Given the description of an element on the screen output the (x, y) to click on. 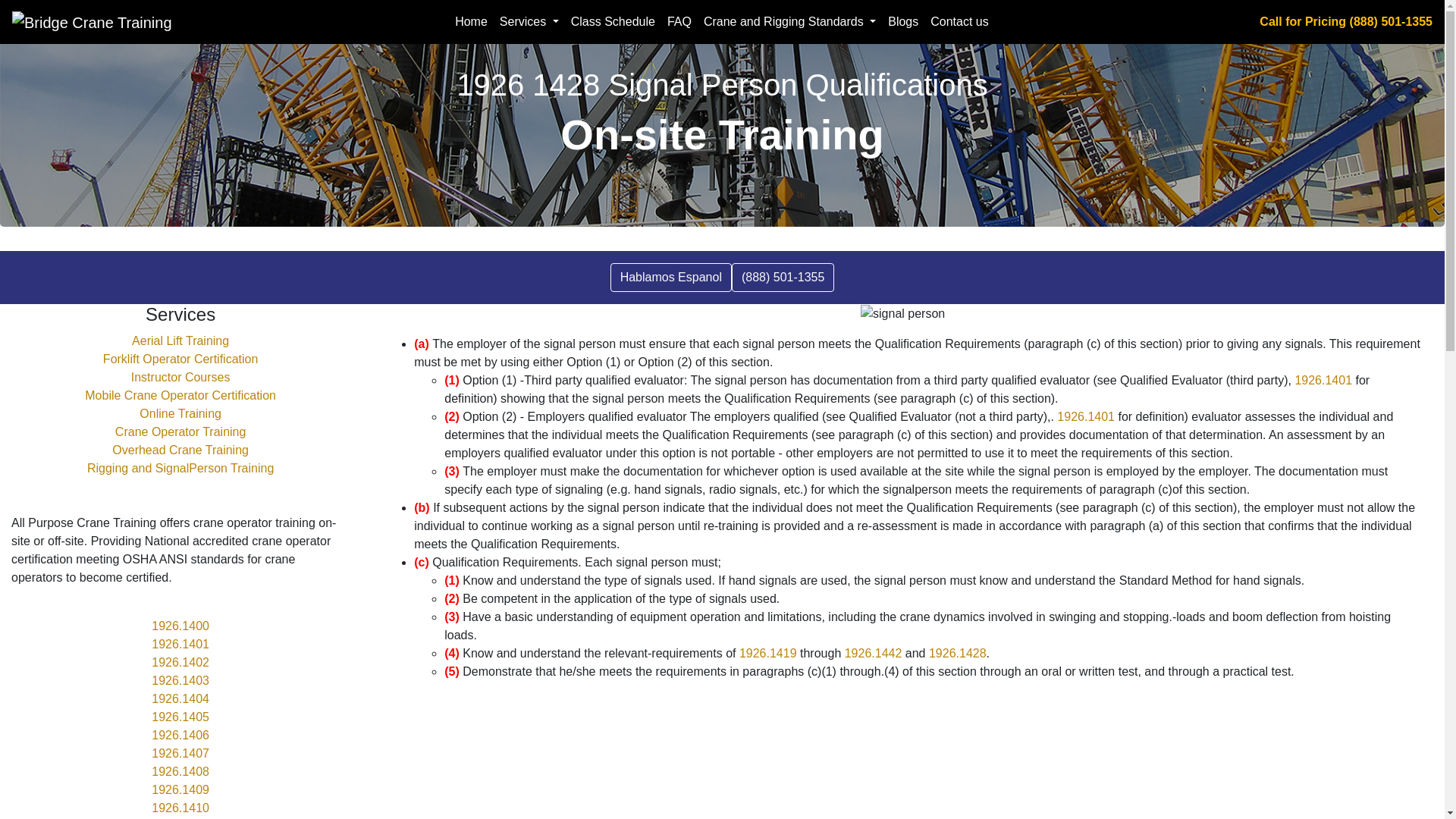
Crane and Rigging Standards Element type: text (789, 21)
Aerial Lift Training Element type: text (180, 340)
Hablamos Espanol Element type: text (670, 277)
1926.1406 Element type: text (180, 734)
Rigging and SignalPerson Training Element type: text (180, 467)
Blogs Element type: text (902, 21)
Class Schedule Element type: text (612, 21)
1926.1408 Element type: text (180, 771)
1926.1401 Element type: text (1085, 416)
Contact us Element type: text (959, 21)
Overhead Crane Training Element type: text (180, 449)
Instructor Courses Element type: text (180, 376)
Forklift Operator Certification Element type: text (180, 358)
1926.1407 Element type: text (180, 752)
Crane Operator Training Element type: text (180, 431)
Mobile Crane Operator Certification Element type: text (180, 395)
Home Element type: text (470, 21)
1926.1442 Element type: text (873, 652)
1926.1401 Element type: text (1323, 379)
FAQ Element type: text (679, 21)
Services Element type: text (528, 21)
1926.1409 Element type: text (180, 789)
Call for Pricing (888) 501-1355 Element type: text (86, 8)
Online Training Element type: text (180, 413)
1926.1404 Element type: text (180, 698)
1926.1403 Element type: text (180, 680)
1926.1401 Element type: text (180, 643)
Call for Pricing (888) 501-1355 Element type: text (1345, 21)
1926.1405 Element type: text (180, 716)
(888) 501-1355 Element type: text (782, 277)
1926.1410 Element type: text (180, 807)
1926.1400 Element type: text (180, 625)
1926.1419 Element type: text (768, 652)
1926.1428 Element type: text (957, 652)
1926.1402 Element type: text (180, 661)
